Given the description of an element on the screen output the (x, y) to click on. 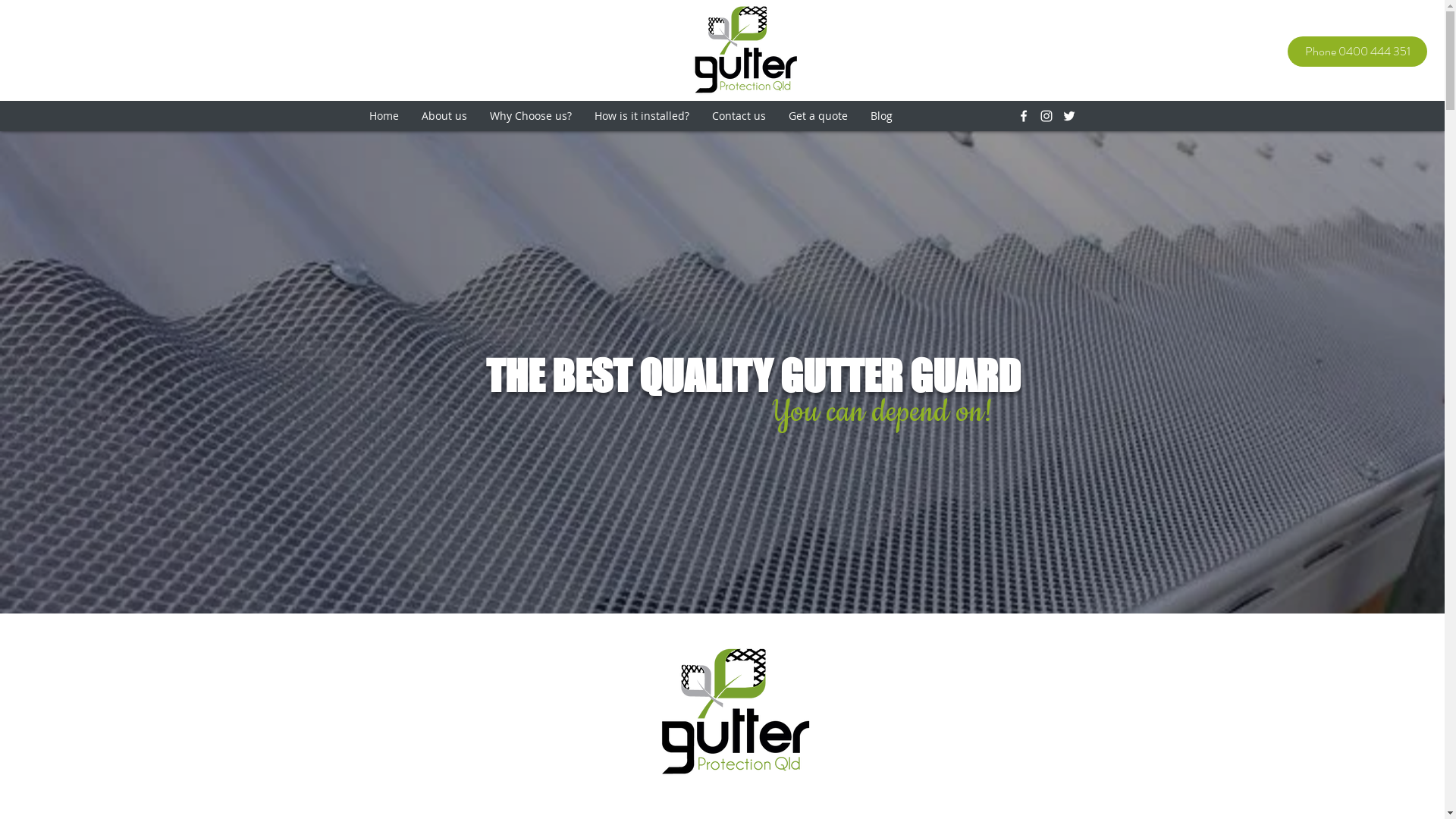
How is it installed? Element type: text (640, 115)
Contact us Element type: text (738, 115)
Why Choose us? Element type: text (529, 115)
Home Element type: text (383, 115)
Blog Element type: text (880, 115)
Phone 0400 444 351 Element type: text (1357, 51)
Get a quote Element type: text (817, 115)
About us Element type: text (443, 115)
